Given the description of an element on the screen output the (x, y) to click on. 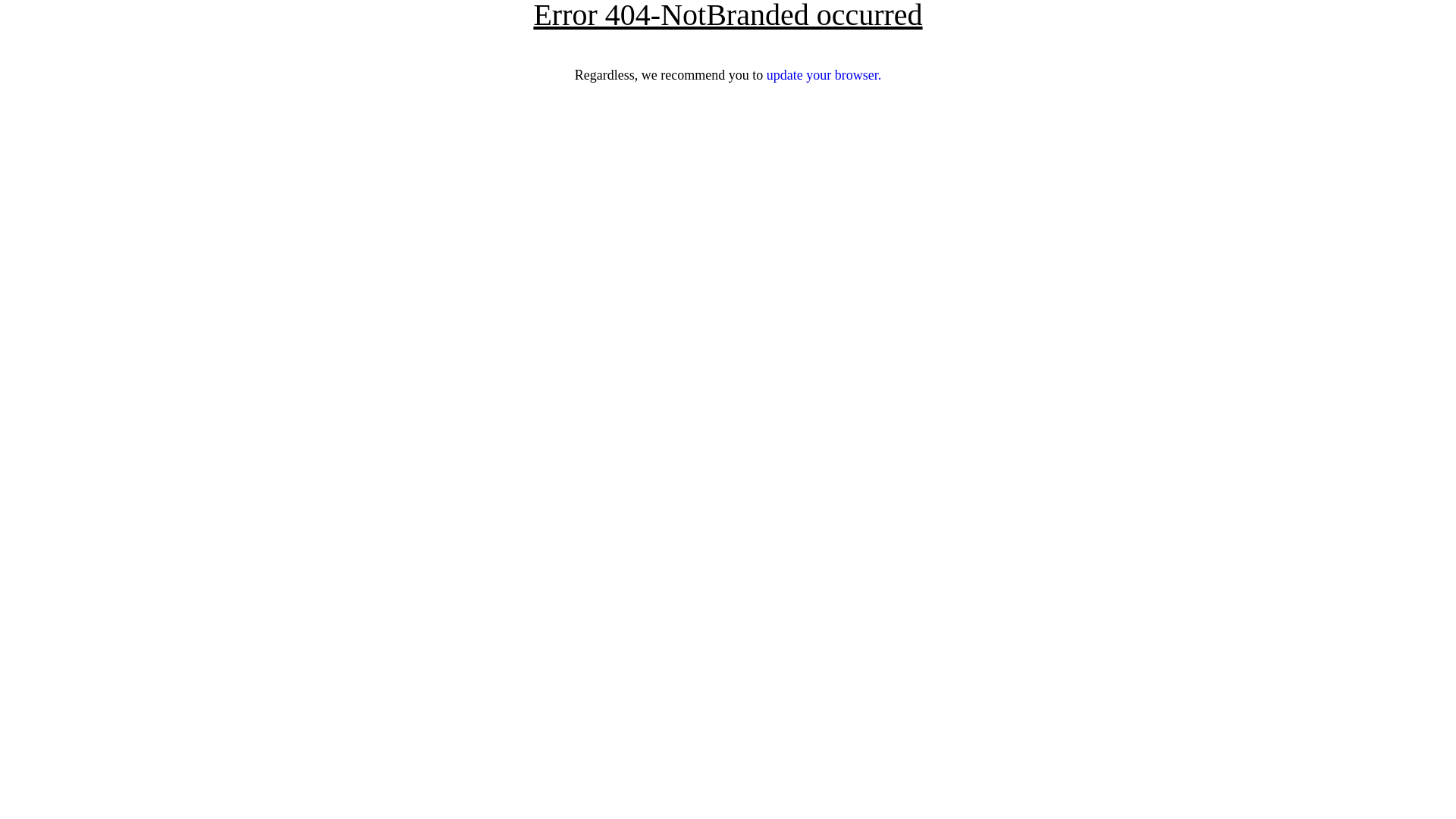
update your browser. Element type: text (823, 74)
